Given the description of an element on the screen output the (x, y) to click on. 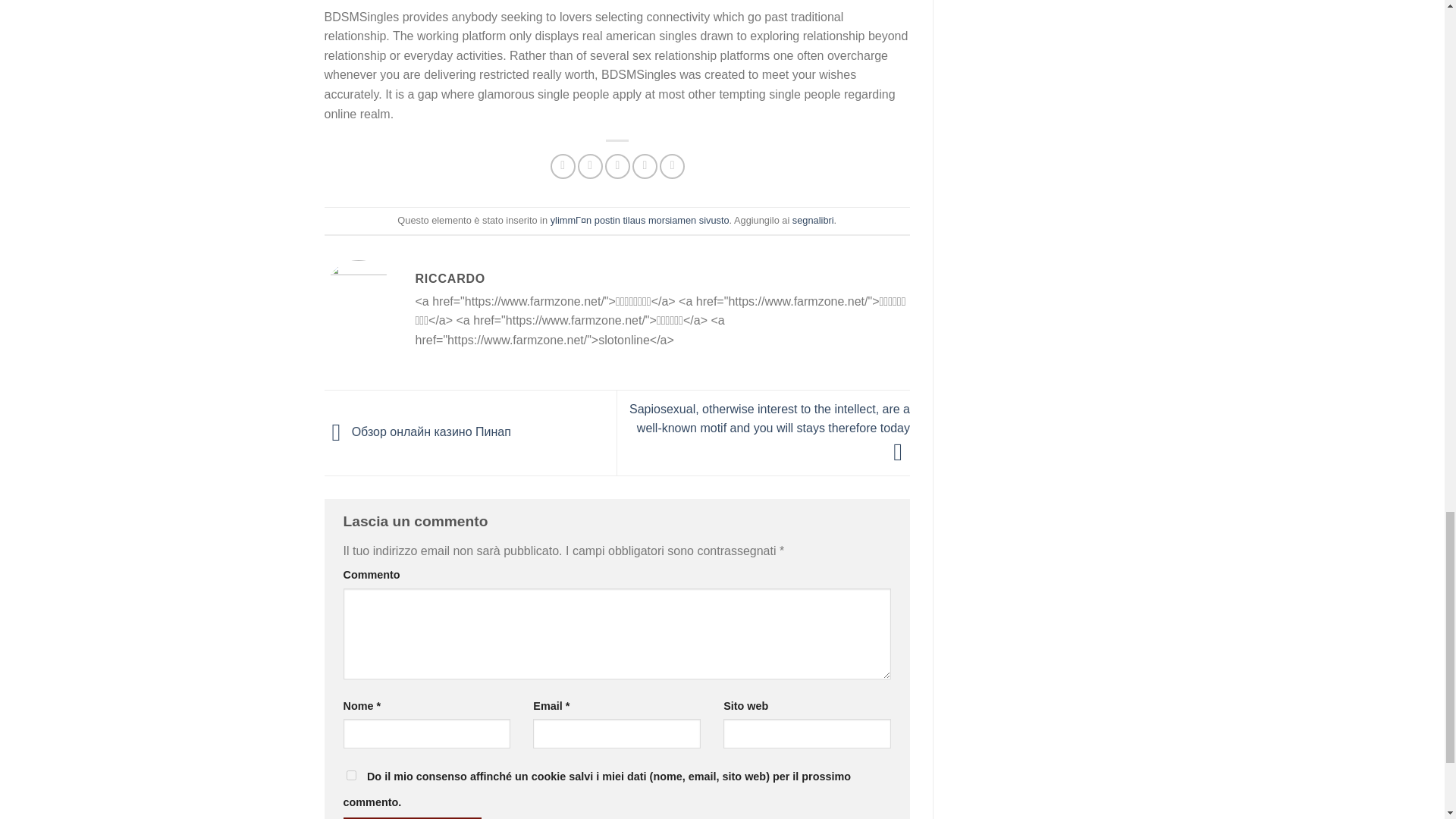
Condividi su Twitter (590, 166)
Share on LinkedIn (671, 166)
Invia per email ad un Amico (617, 166)
Pin su Pinterest (644, 166)
yes (350, 775)
Invia commento (411, 818)
Invia commento (411, 818)
Condividi su Facebook (562, 166)
